Given the description of an element on the screen output the (x, y) to click on. 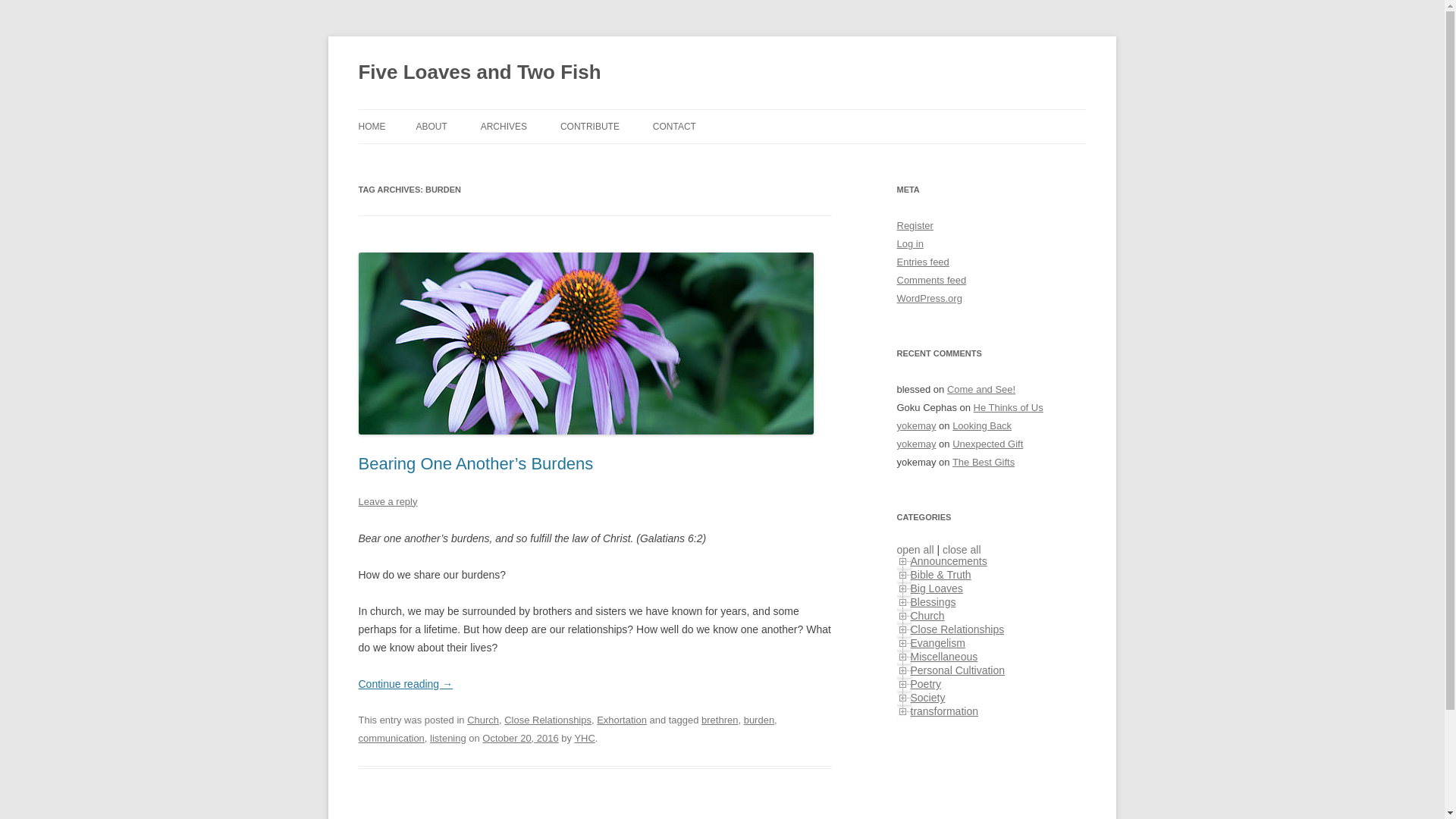
Five Loaves and Two Fish (478, 72)
HOW TO REGISTER FOR AN ACCOUNT (635, 167)
Looking Back (981, 425)
burden (759, 719)
close all (961, 549)
Exhortation (621, 719)
YHC (583, 737)
Leave a reply (387, 501)
Unexpected Gift (987, 443)
listening (447, 737)
open all (914, 549)
open all (914, 549)
communication (390, 737)
Announcements (948, 561)
